Given the description of an element on the screen output the (x, y) to click on. 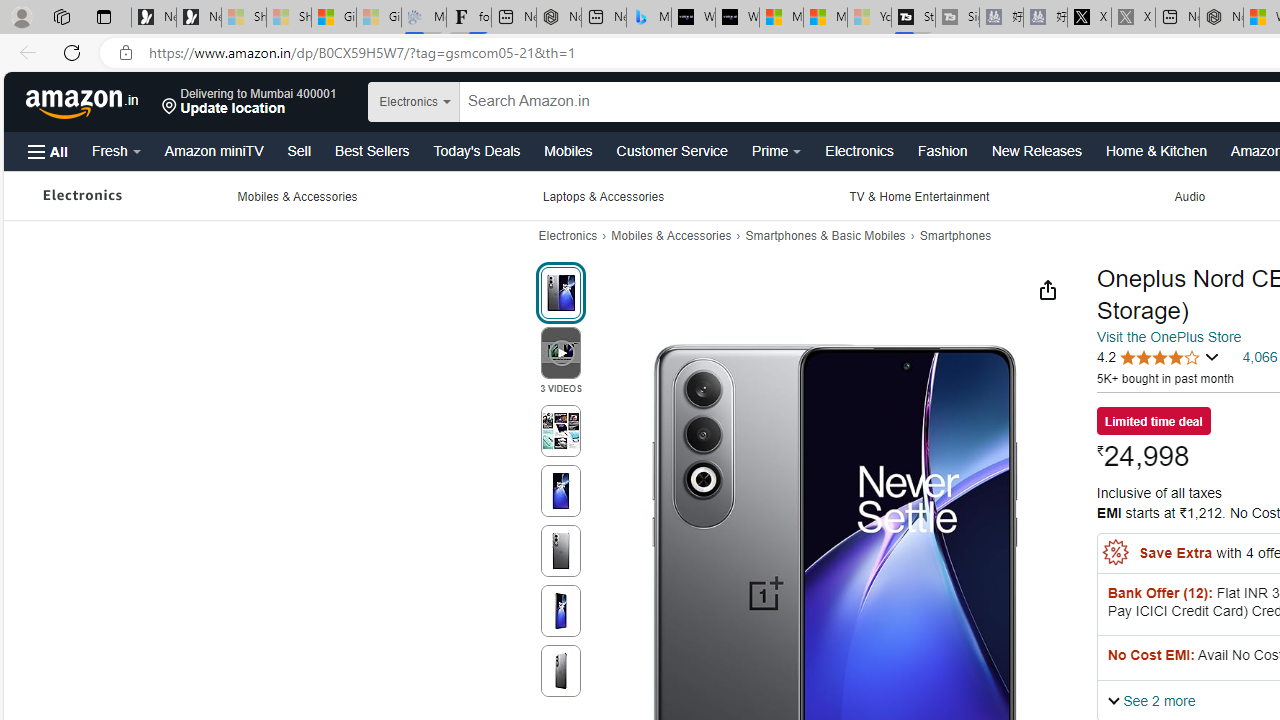
Home & Kitchen (1156, 150)
X - Sleeping (1133, 17)
Amazon.in (84, 101)
Today's Deals (476, 150)
Fashion (942, 150)
See 2 more (1151, 700)
Search in (465, 102)
Electronics (567, 235)
Smartphones & Basic Mobiles (825, 235)
Nordace - #1 Japanese Best-Seller - Siena Smart Backpack (558, 17)
Mobiles & Accessories (671, 235)
